Given the description of an element on the screen output the (x, y) to click on. 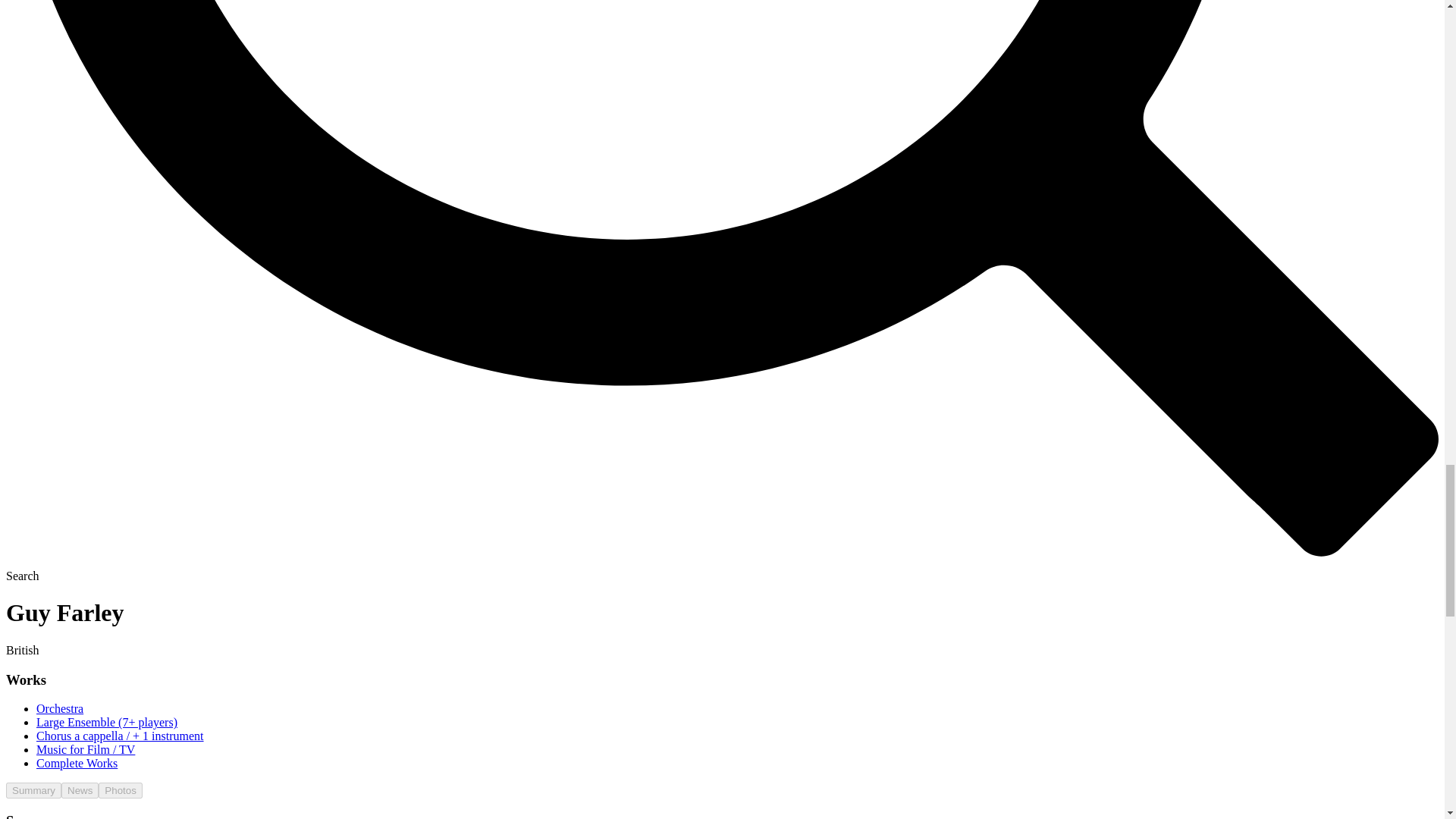
Summary (33, 790)
Complete Works (76, 762)
News (80, 790)
Orchestra (59, 707)
Photos (120, 790)
